Given the description of an element on the screen output the (x, y) to click on. 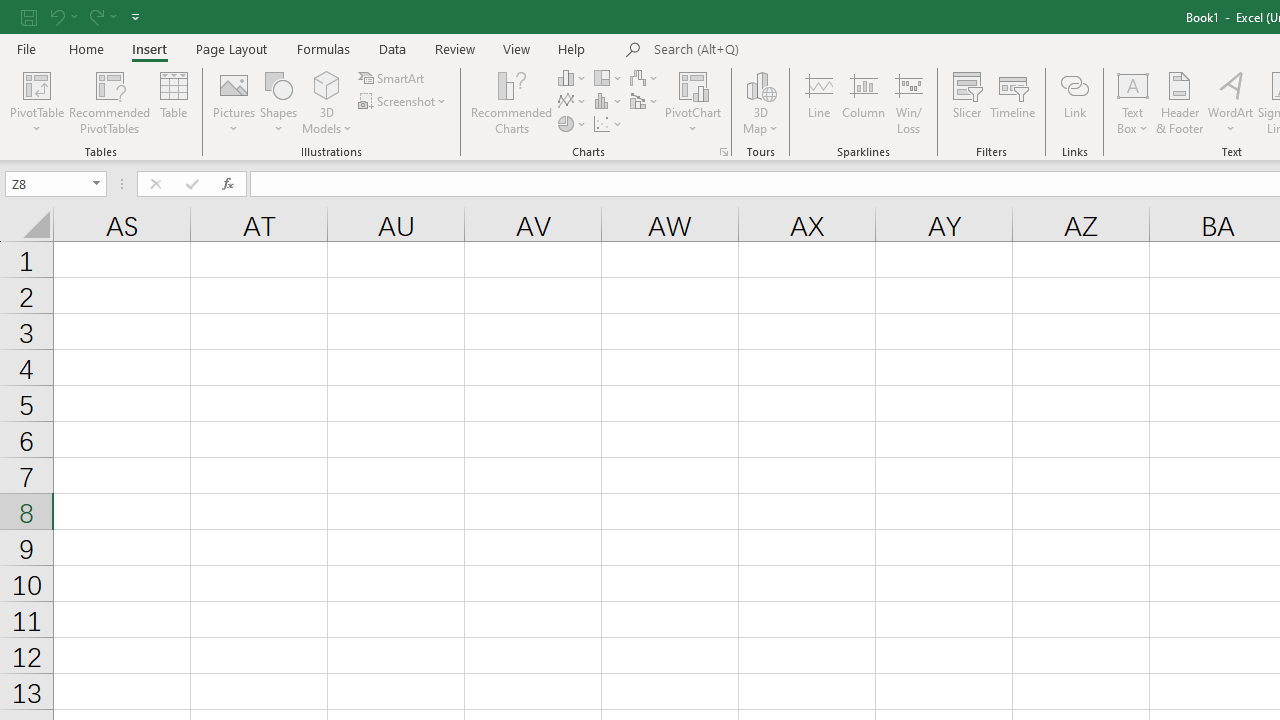
3D Models (326, 102)
Line (818, 102)
Quick Access Toolbar (82, 16)
Review (454, 48)
Customize Quick Access Toolbar (135, 15)
Insert Waterfall, Funnel, Stock, Surface, or Radar Chart (645, 78)
3D Models (326, 84)
Draw Horizontal Text Box (1133, 84)
3D Map (760, 84)
Timeline (1013, 102)
Shapes (278, 102)
Help (572, 48)
SmartArt... (392, 78)
